Given the description of an element on the screen output the (x, y) to click on. 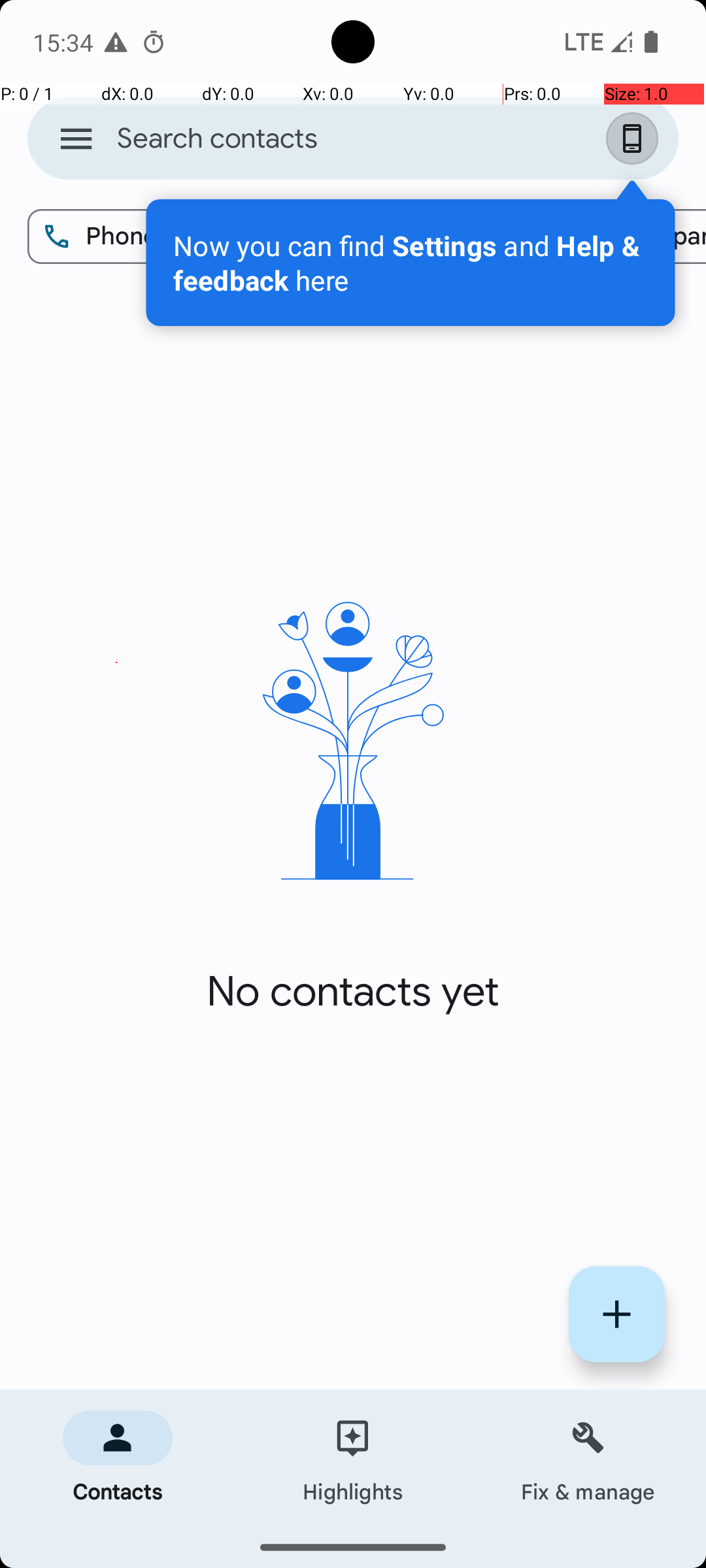
Contacts Element type: android.widget.FrameLayout (117, 1457)
Highlights Element type: android.widget.FrameLayout (352, 1457)
Fix & manage Element type: android.widget.FrameLayout (588, 1457)
Open navigation drawer Element type: android.widget.ImageButton (75, 138)
Signed in as Device
Account and settings. Element type: android.widget.FrameLayout (634, 138)
No contacts yet Element type: android.widget.TextView (353, 991)
Phone contacts Element type: android.widget.Button (157, 236)
Email contacts Element type: android.widget.Button (425, 236)
Now you can find Settings and Help & feedback here
Open account and settings. Element type: android.view.ViewGroup (409, 262)
Now you can find Settings and Help & feedback here Element type: android.widget.TextView (410, 262)
Phone one bar. Element type: android.widget.FrameLayout (595, 41)
